Given the description of an element on the screen output the (x, y) to click on. 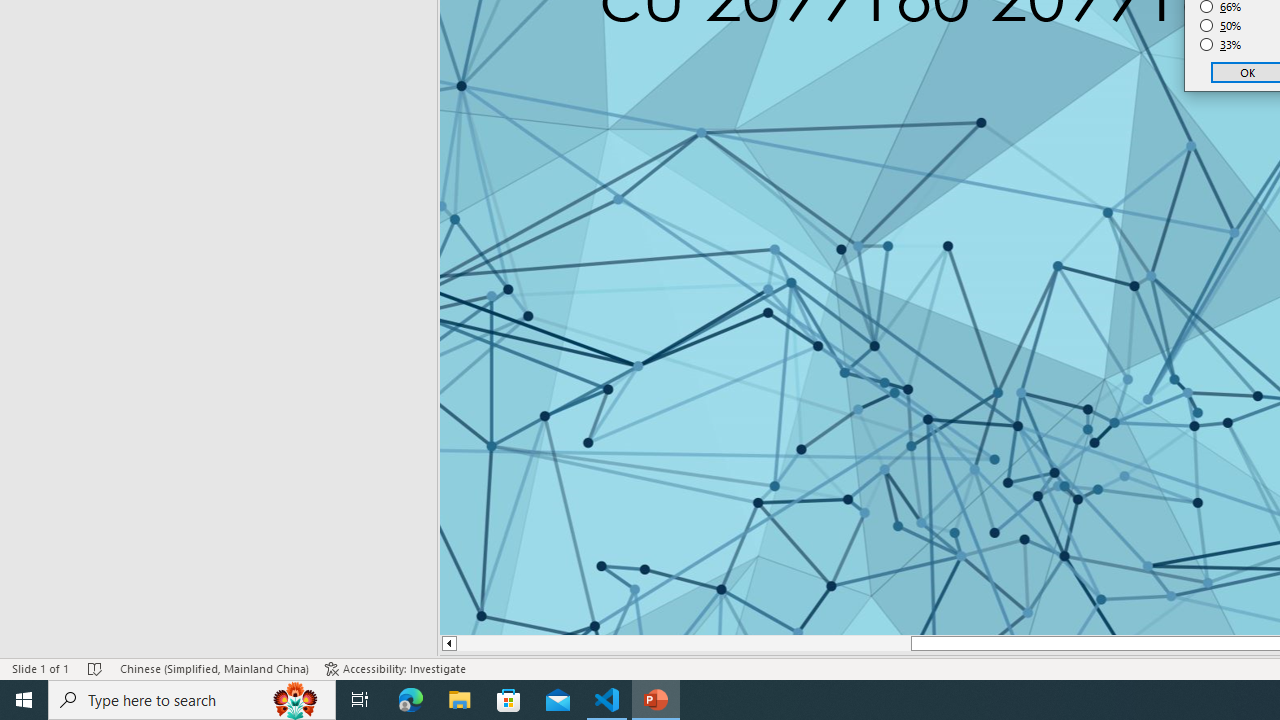
33% (1221, 44)
50% (1221, 25)
